Given the description of an element on the screen output the (x, y) to click on. 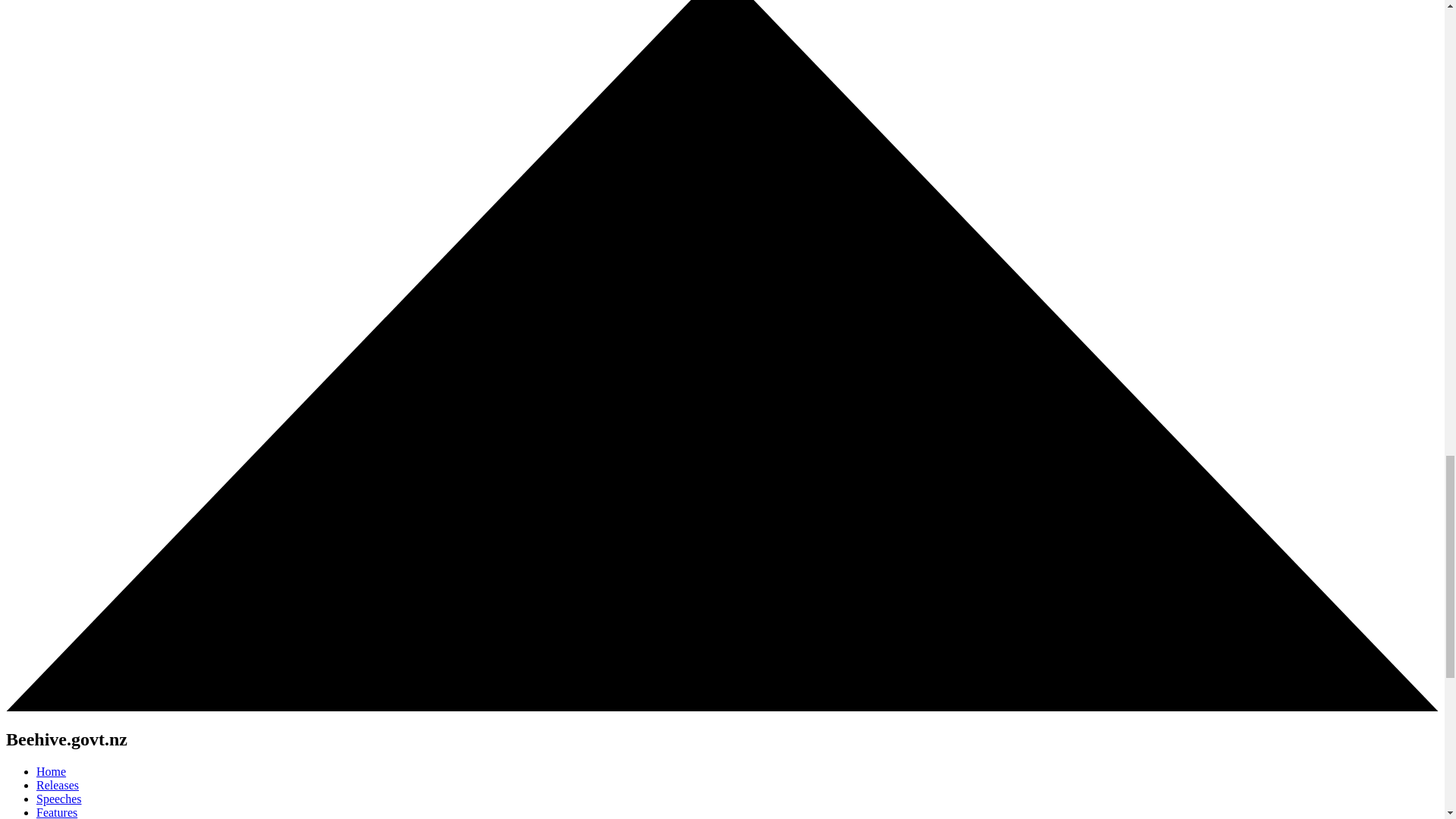
Speeches (58, 798)
Home (50, 771)
Features (56, 812)
Releases (57, 784)
